Given the description of an element on the screen output the (x, y) to click on. 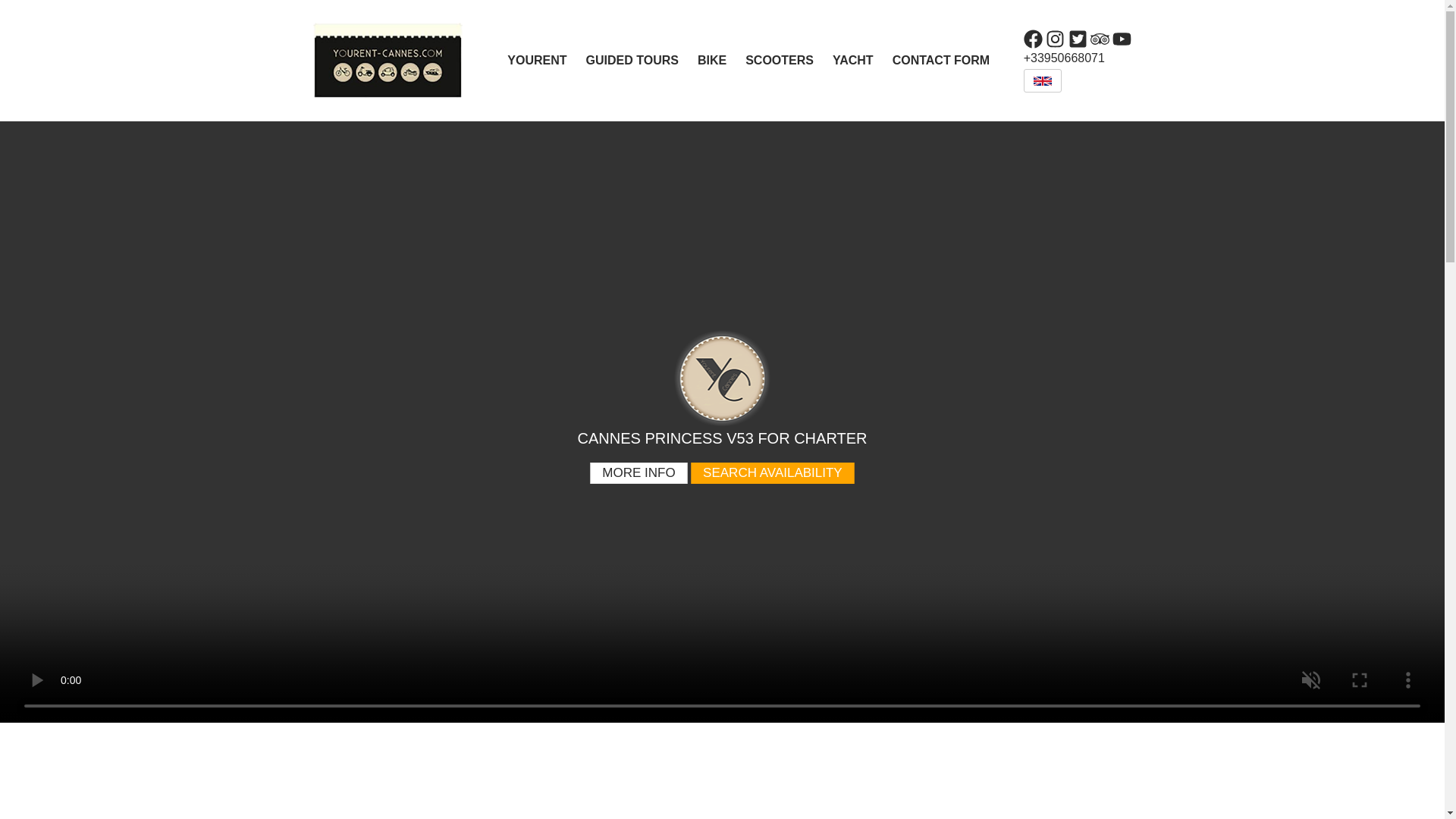
SEARCH AVAILABILITY (772, 473)
BIKE (721, 60)
YACHT (862, 60)
SCOOTERS (788, 60)
GUIDED TOURS (641, 60)
CONTACT FORM (950, 60)
MORE INFO (638, 473)
YOURENT (545, 60)
